Given the description of an element on the screen output the (x, y) to click on. 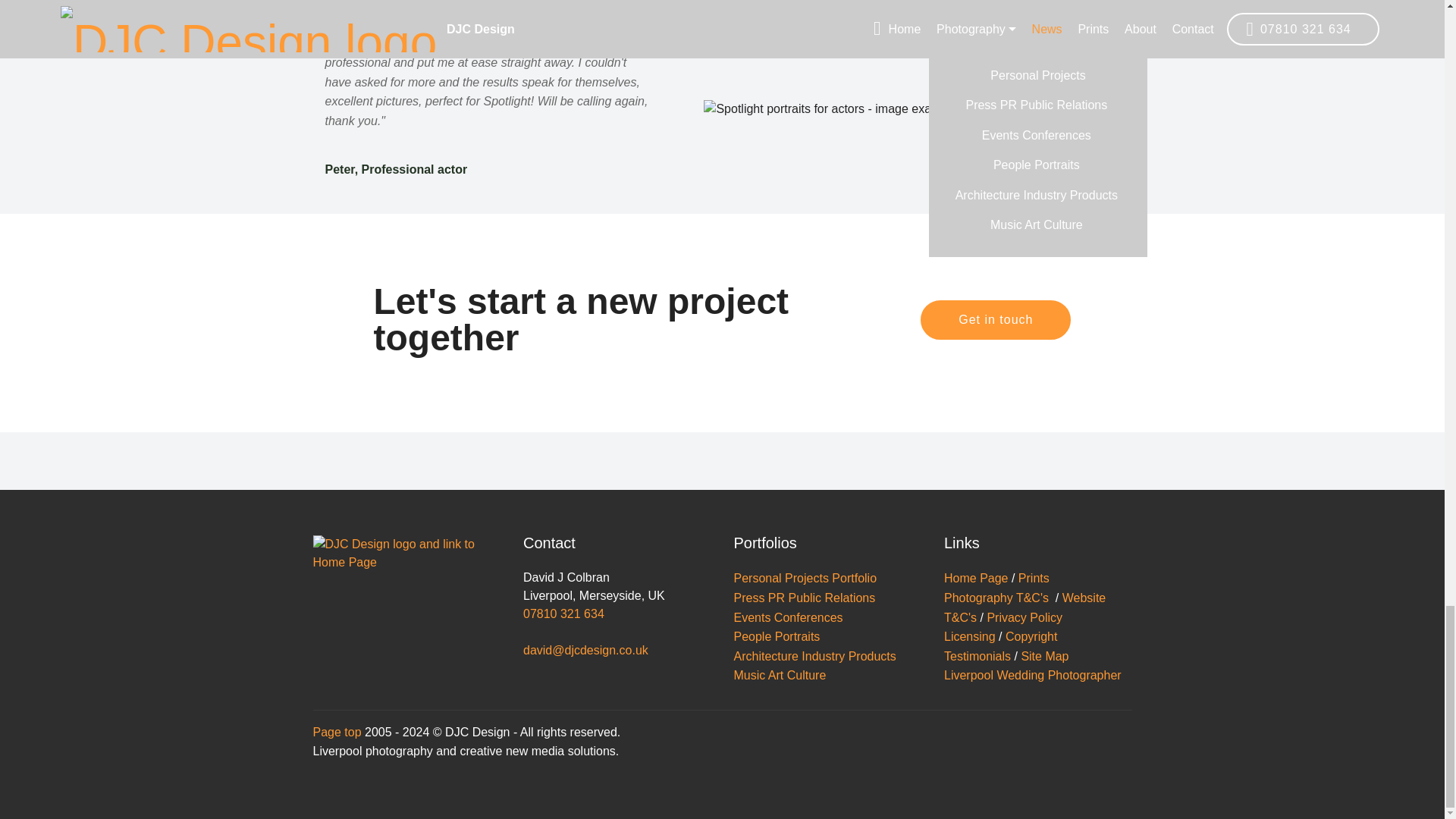
David J Colbran personal photography projects (805, 577)
Link to Home Page (406, 553)
